Given the description of an element on the screen output the (x, y) to click on. 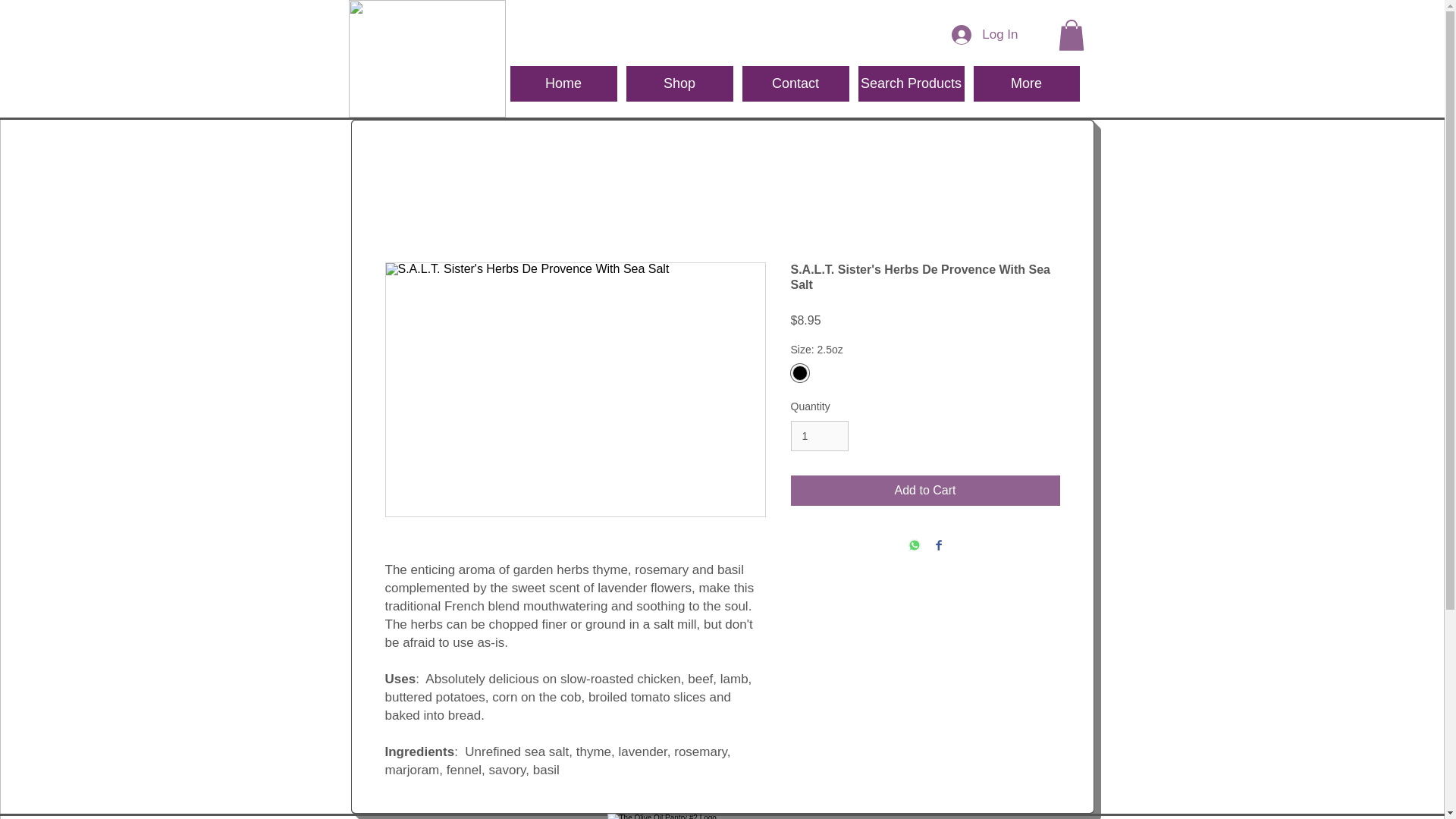
Add to Cart (924, 490)
1 (818, 436)
Home (562, 83)
Contact (794, 83)
Log In (983, 34)
Shop (679, 83)
Search Products (911, 83)
